Given the description of an element on the screen output the (x, y) to click on. 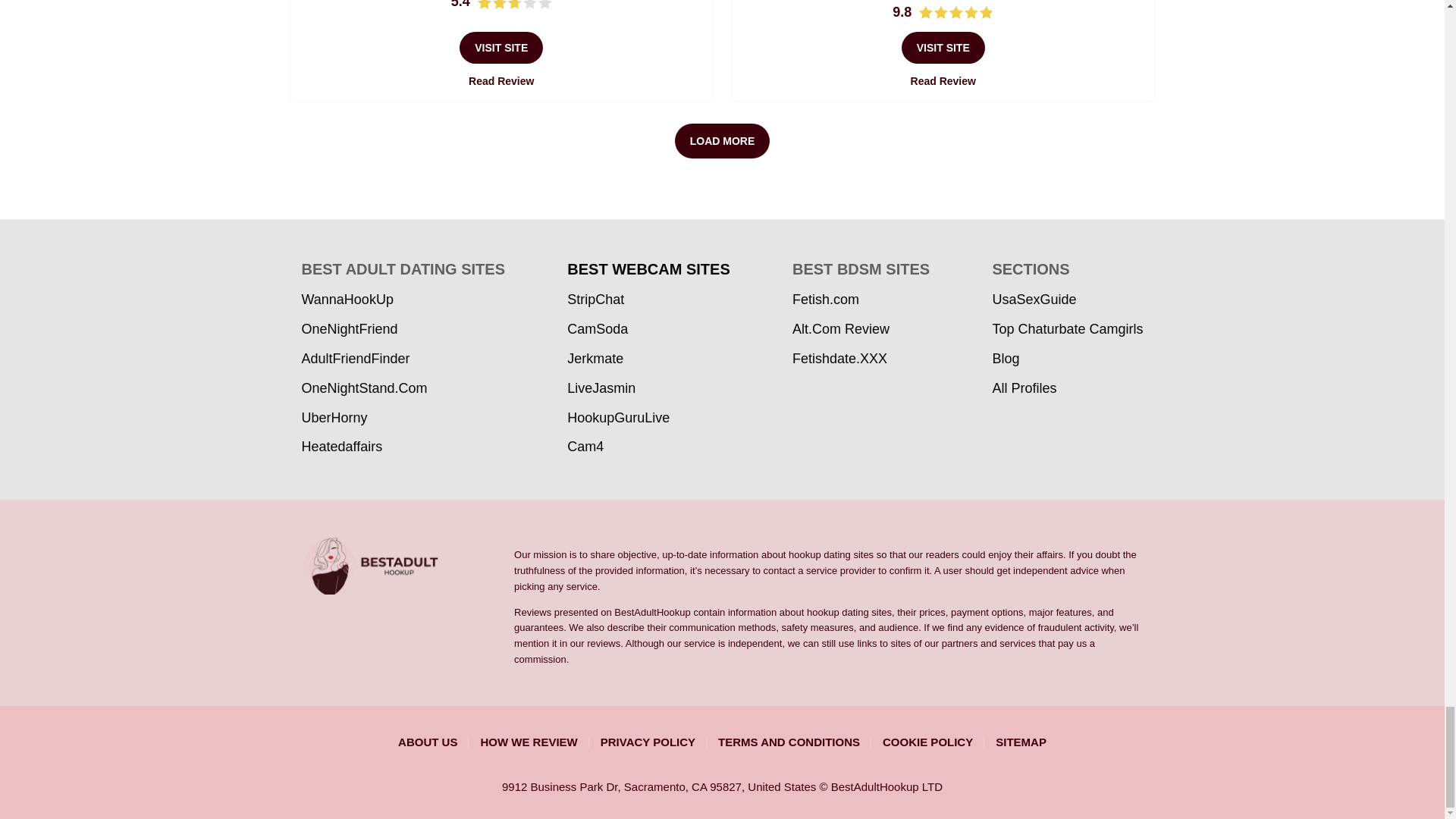
Our Score (514, 4)
Our Score (955, 11)
Best Adult Hookup Sites (408, 565)
